Given the description of an element on the screen output the (x, y) to click on. 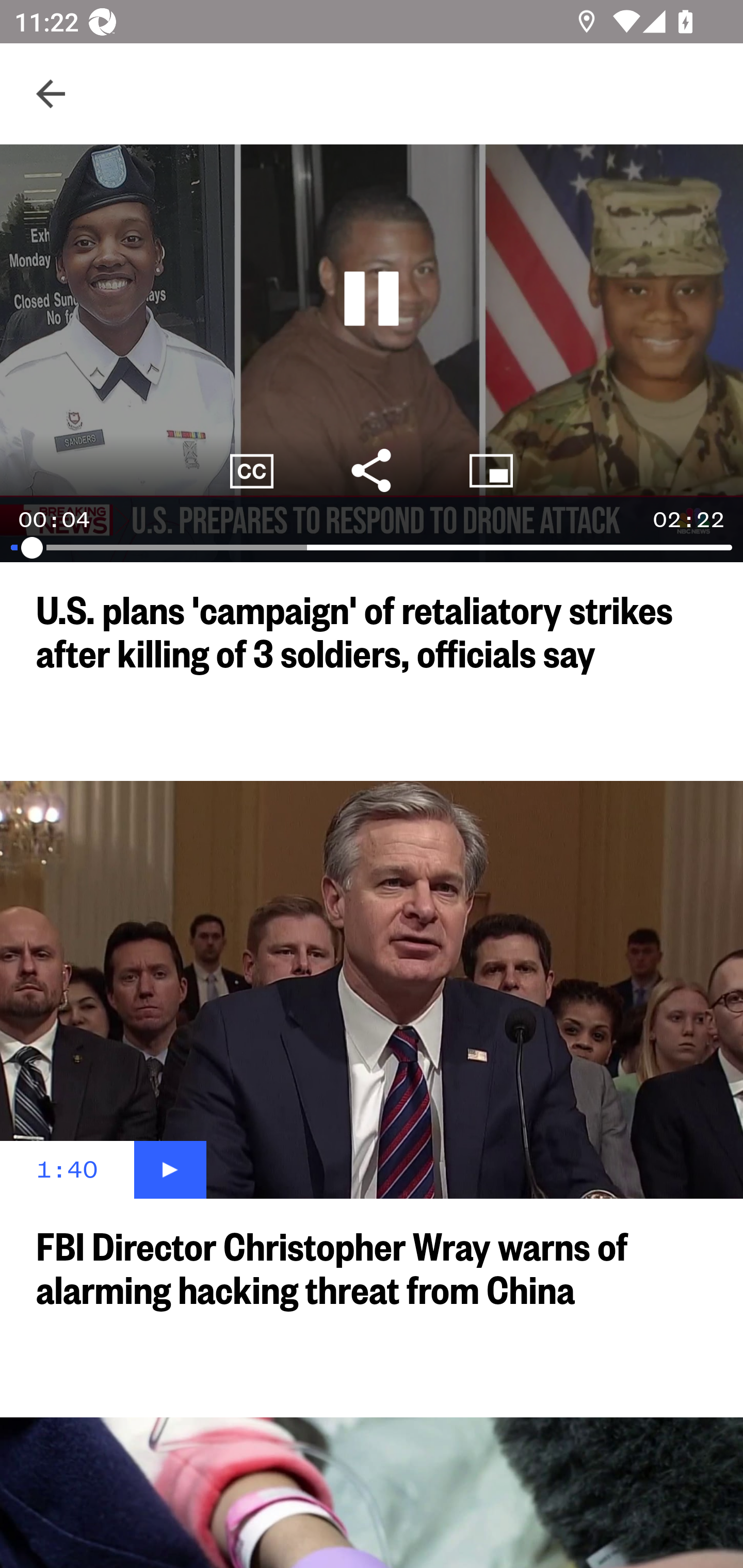
Navigate up (50, 93)
Pause (371, 298)
Closed Captions, ON (251, 470)
Share Media (371, 470)
Picture in Picture Media (490, 470)
